Given the description of an element on the screen output the (x, y) to click on. 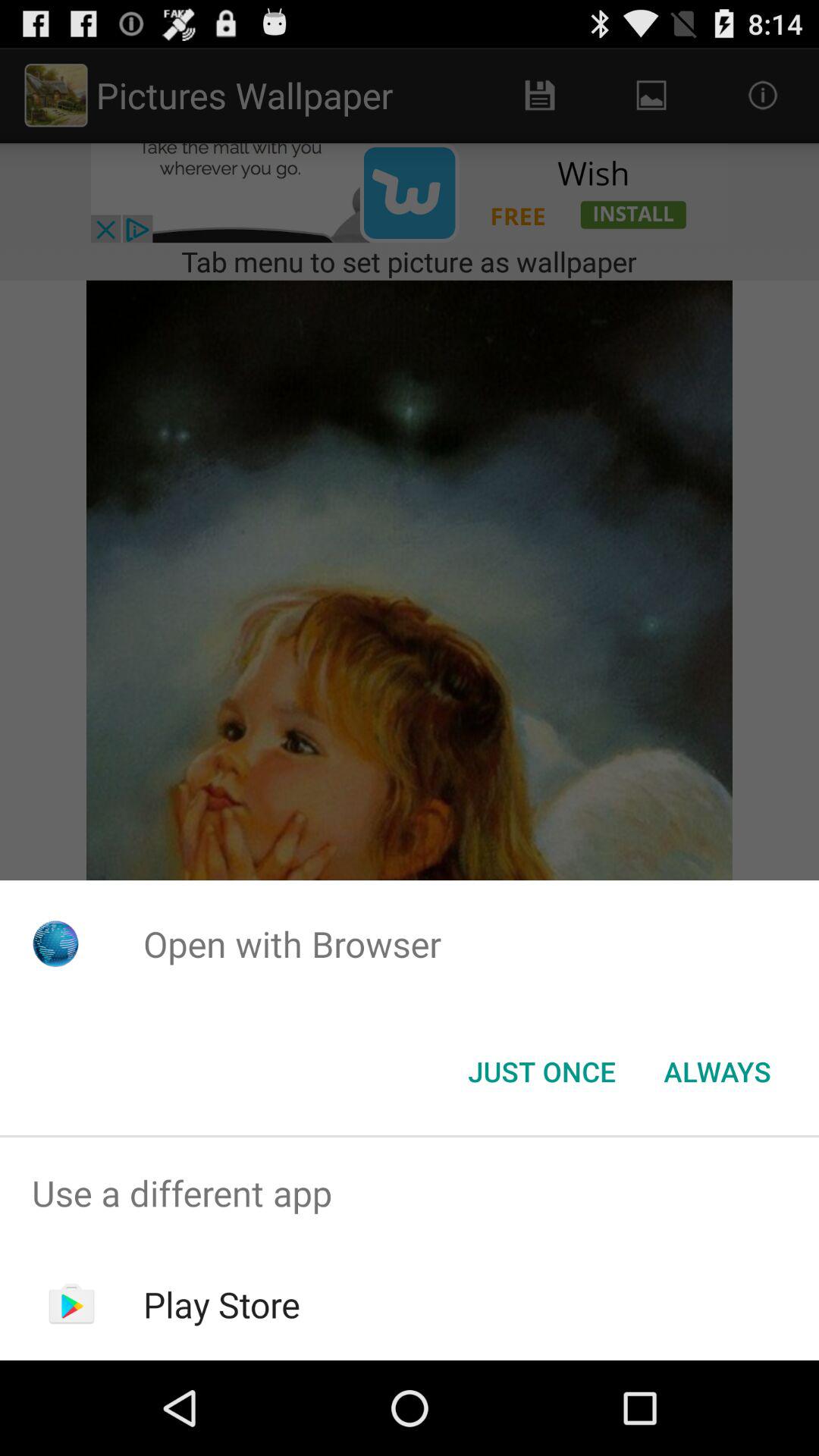
flip to just once icon (541, 1071)
